Given the description of an element on the screen output the (x, y) to click on. 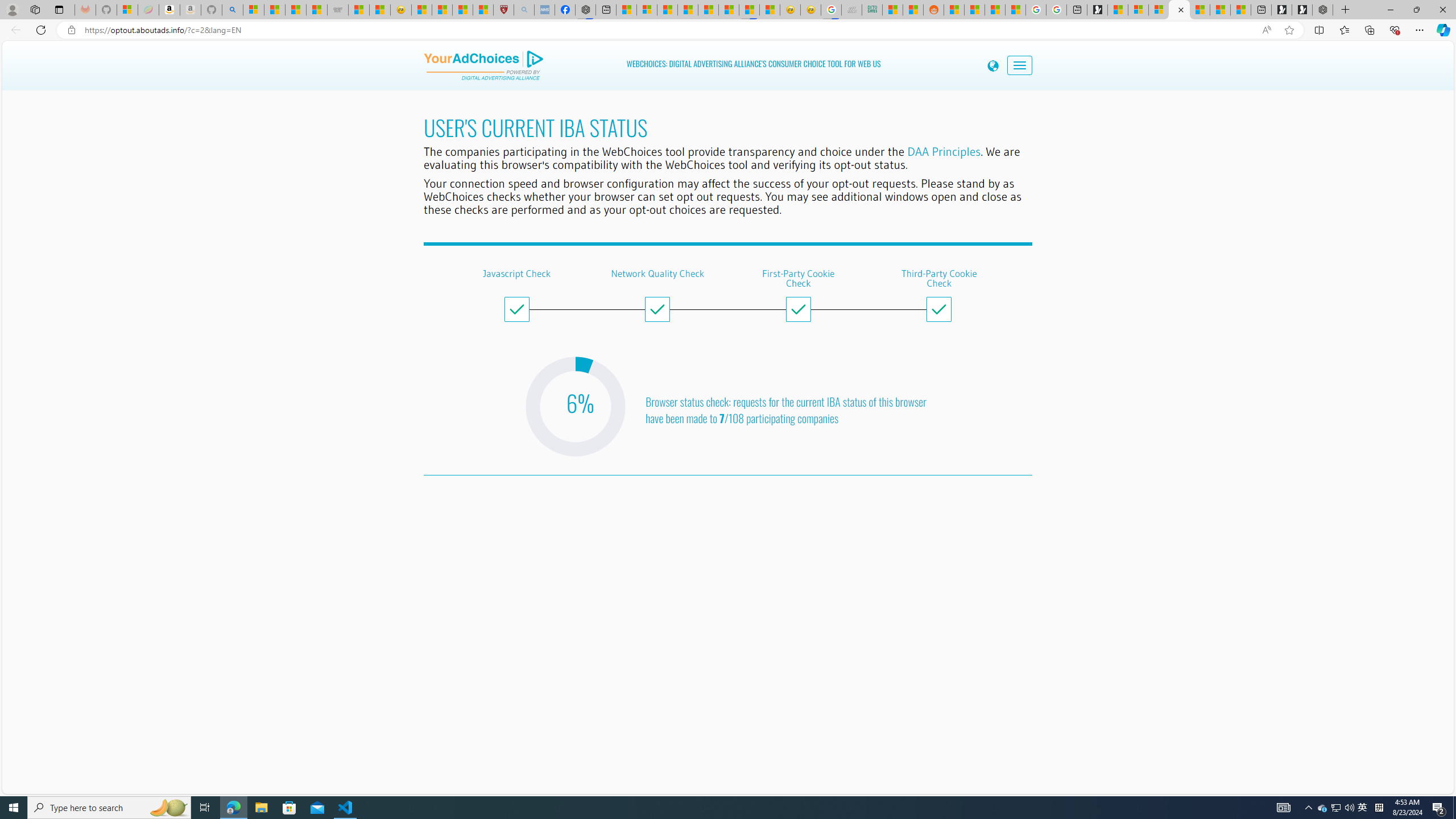
Stocks - MSN (316, 9)
12 Popular Science Lies that Must be Corrected (482, 9)
MSN (748, 9)
These 3 Stocks Pay You More Than 5% to Own Them (1240, 9)
Robert H. Shmerling, MD - Harvard Health (503, 9)
Science - MSN (461, 9)
